Given the description of an element on the screen output the (x, y) to click on. 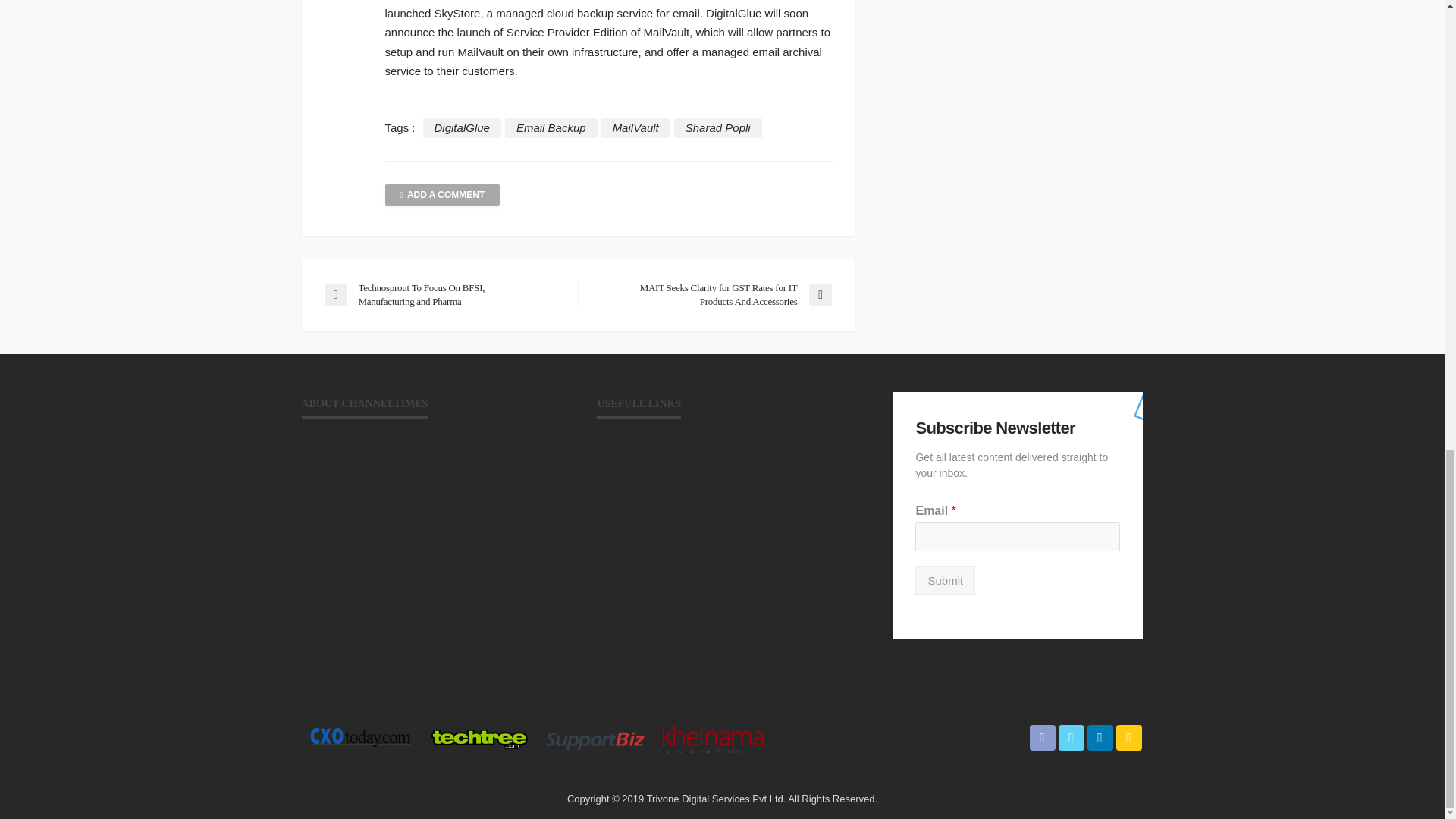
DigitalGlue (461, 127)
Email Backup (550, 127)
DigitalGlue (461, 127)
MailVault (635, 127)
ADD A COMMENT (442, 194)
Email Backup (550, 127)
Technosprout To Focus On BFSI, Manufacturing and Pharma (443, 294)
Sharad Popli (717, 127)
Sharad Popli (717, 127)
Technosprout To Focus On BFSI, Manufacturing and Pharma (443, 294)
MailVault (635, 127)
